Given the description of an element on the screen output the (x, y) to click on. 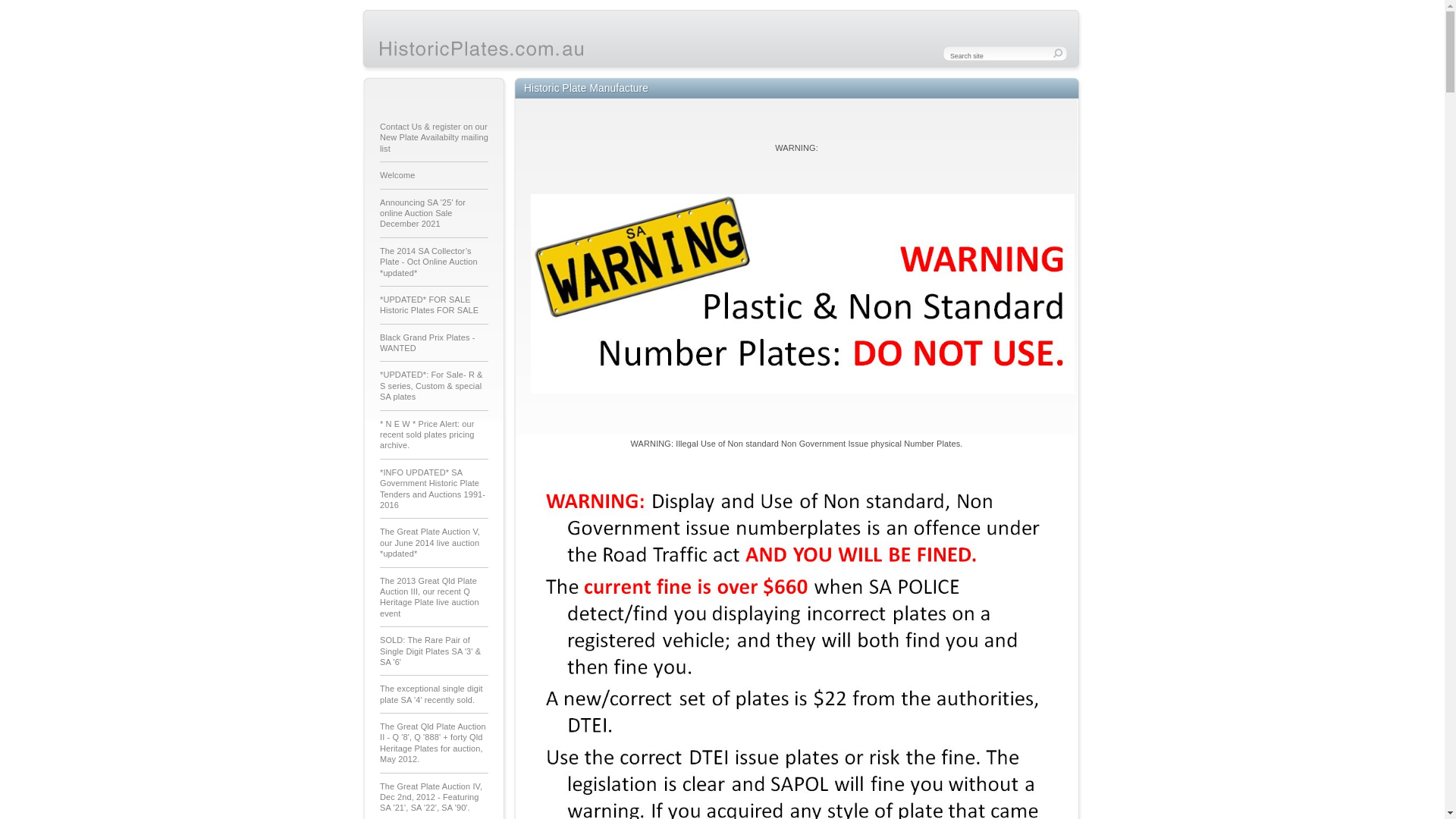
Announcing SA '25' for online Auction Sale December 2021 Element type: text (433, 213)
Black Grand Prix Plates - WANTED Element type: text (433, 343)
Search Element type: text (20, 10)
Welcome Element type: text (433, 175)
The exceptional single digit plate SA '4' recently sold. Element type: text (433, 694)
*UPDATED* FOR SALE Historic Plates FOR SALE Element type: text (433, 305)
Enter the terms you wish to search for. Element type: hover (1008, 53)
Historic Plates.com.au Element type: text (481, 48)
SOLD: The Rare Pair of Single Digit Plates SA '3' & SA '6' Element type: text (433, 651)
